Given the description of an element on the screen output the (x, y) to click on. 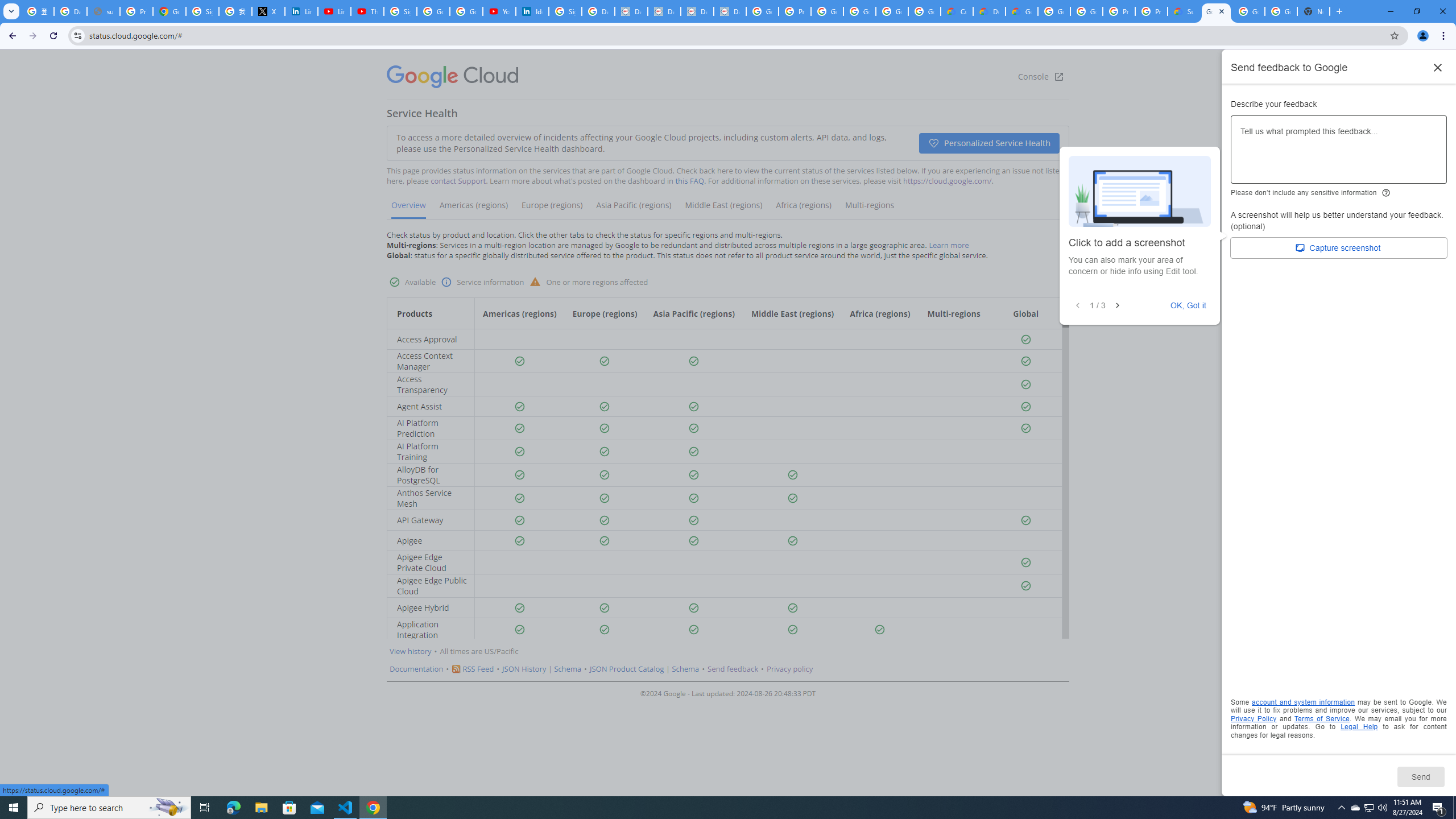
Google Workspace - Specific Terms (924, 11)
Opens in a new tab. Privacy Policy (1253, 718)
Opens in a new tab. Terms of Service (1321, 718)
Describe your feedback (1338, 153)
Previous (1077, 305)
RSS Feed (478, 668)
https://cloud.google.com/ (946, 181)
Americas (regions) (473, 209)
Next (1117, 305)
New Tab (1313, 11)
